Given the description of an element on the screen output the (x, y) to click on. 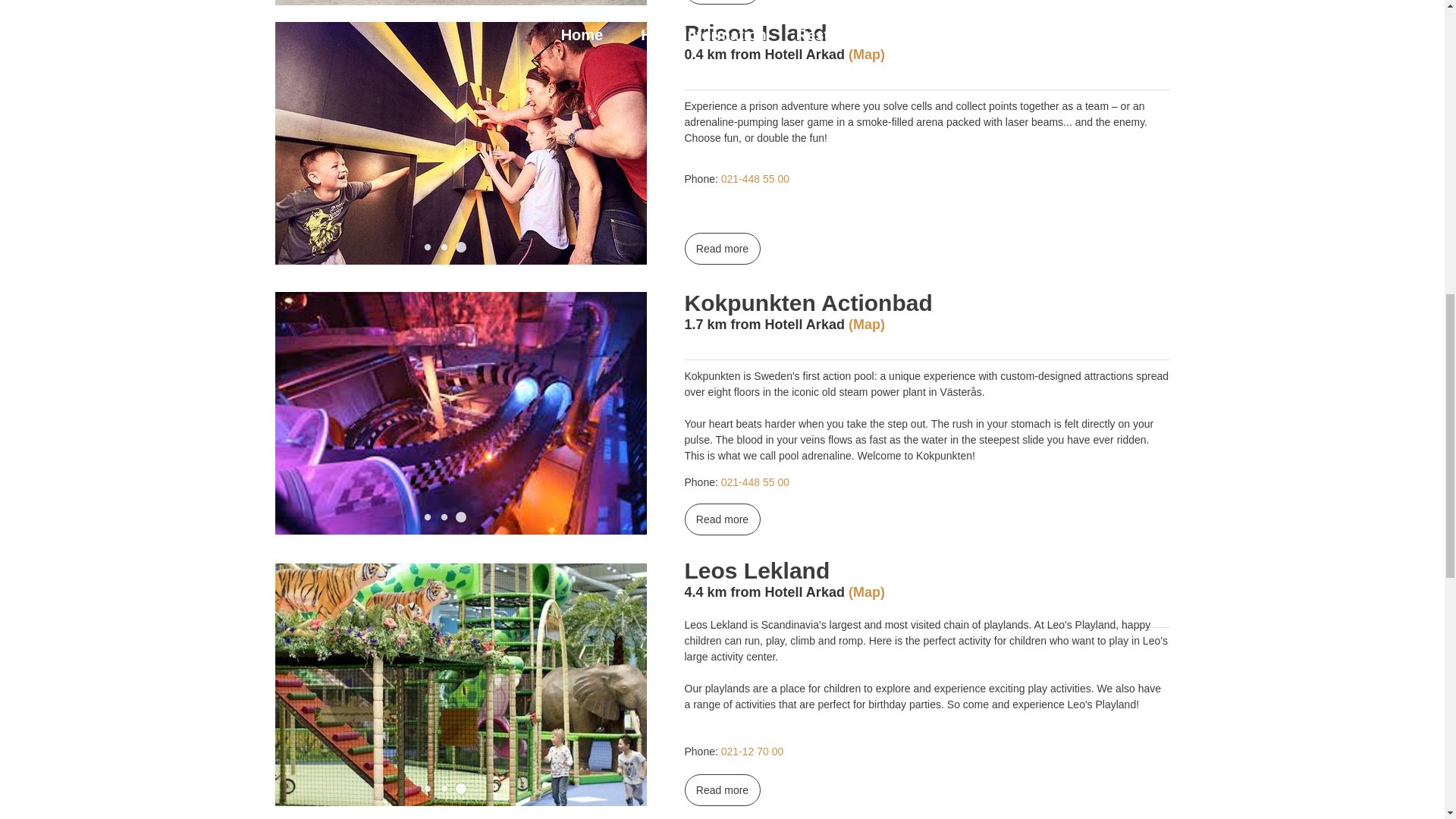
021-448 55 00 (754, 178)
Read more (722, 248)
Read more (722, 2)
